Given the description of an element on the screen output the (x, y) to click on. 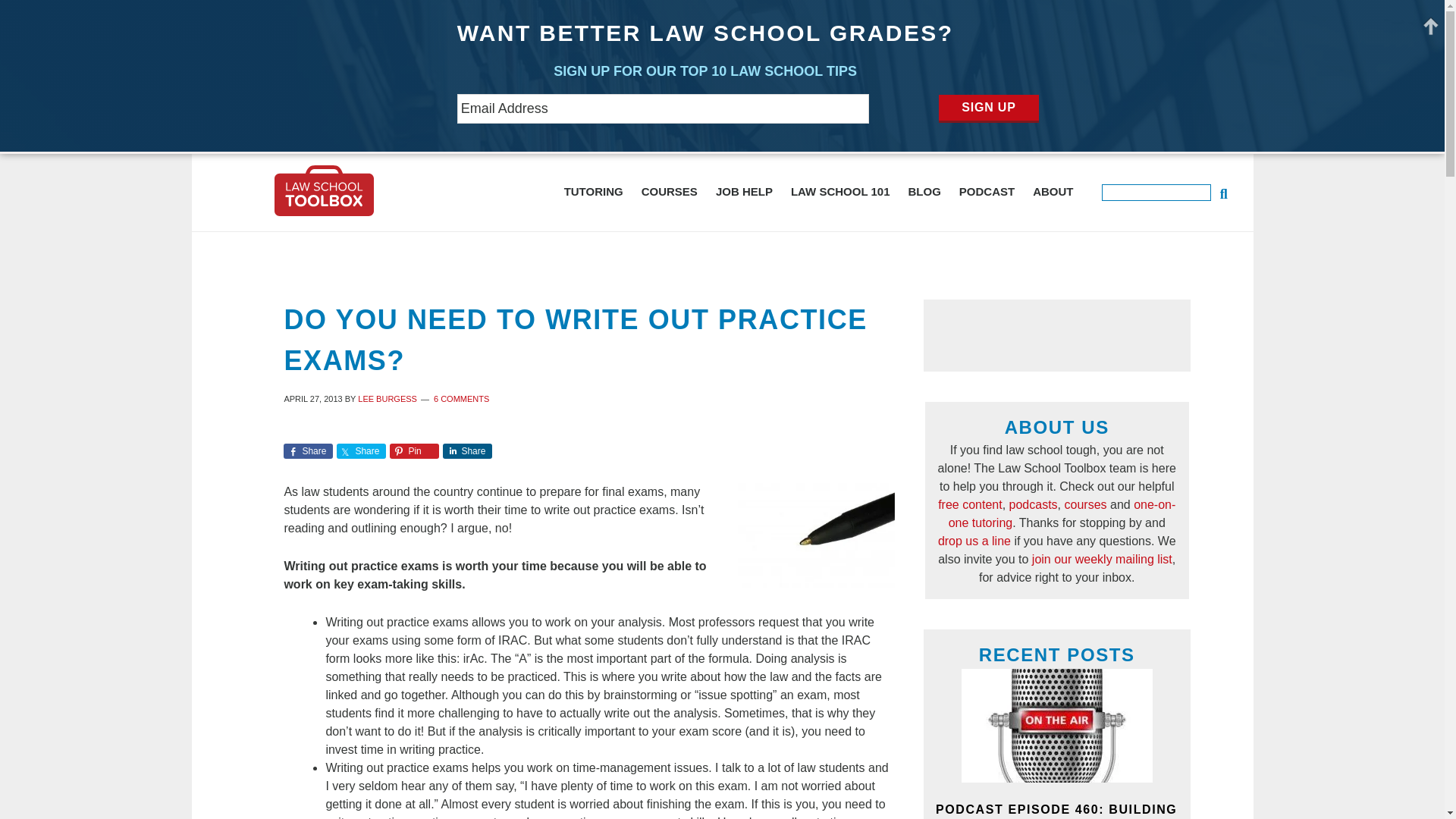
Share (308, 450)
PODCAST (986, 191)
Pin (414, 450)
LAW SCHOOL 101 (840, 191)
Share (467, 450)
6 COMMENTS (461, 398)
Share (360, 450)
JOB HELP (743, 191)
COURSES (668, 191)
BLOG (923, 191)
LEE BURGESS (387, 398)
Sign Up (988, 108)
TUTORING (592, 191)
ABOUT (1052, 191)
